Given the description of an element on the screen output the (x, y) to click on. 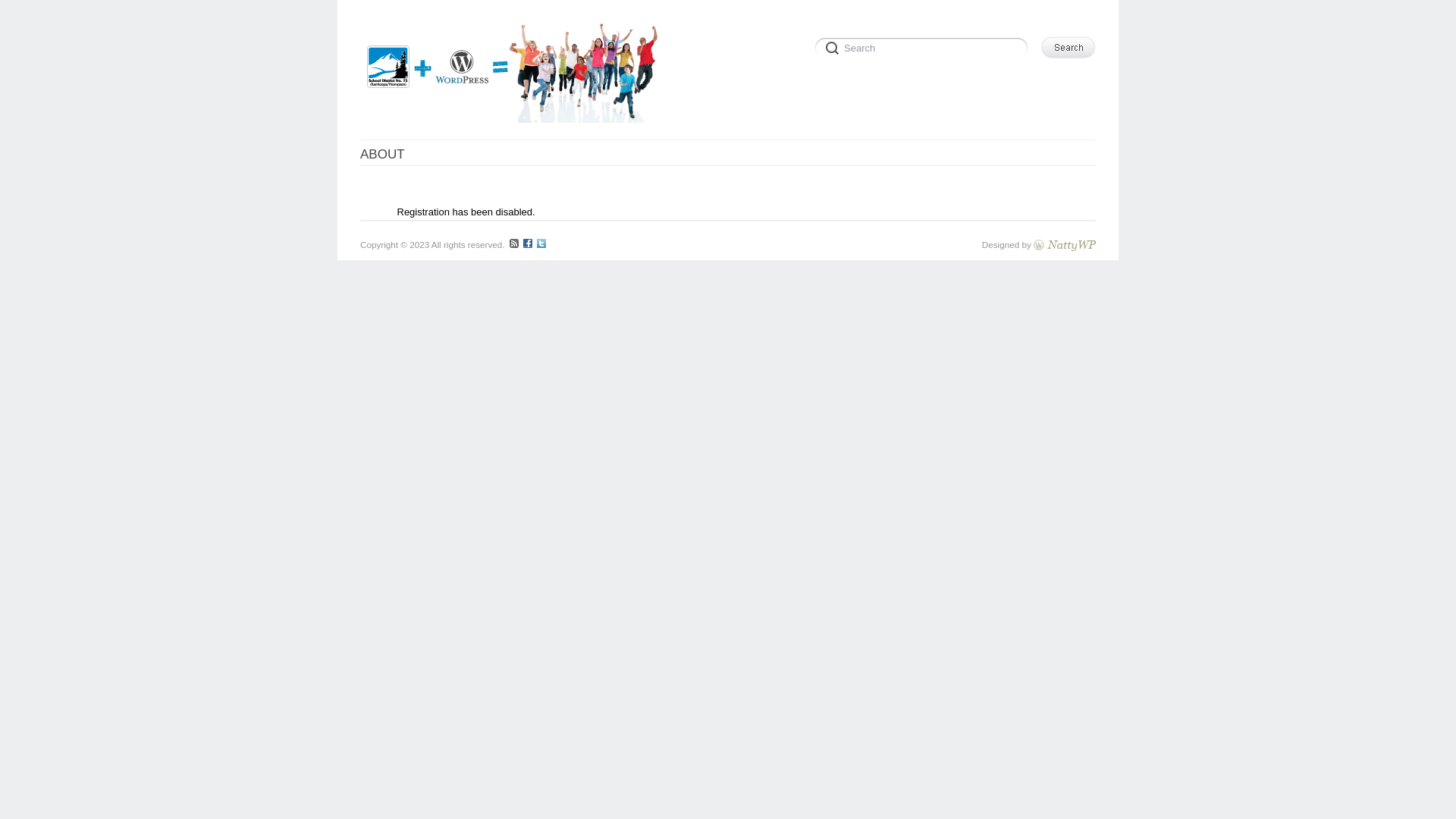
search Element type: hover (924, 45)
ABOUT Element type: text (382, 154)
NattyWP Element type: hover (1064, 244)
Search Element type: text (924, 45)
Search Element type: hover (1067, 47)
